Given the description of an element on the screen output the (x, y) to click on. 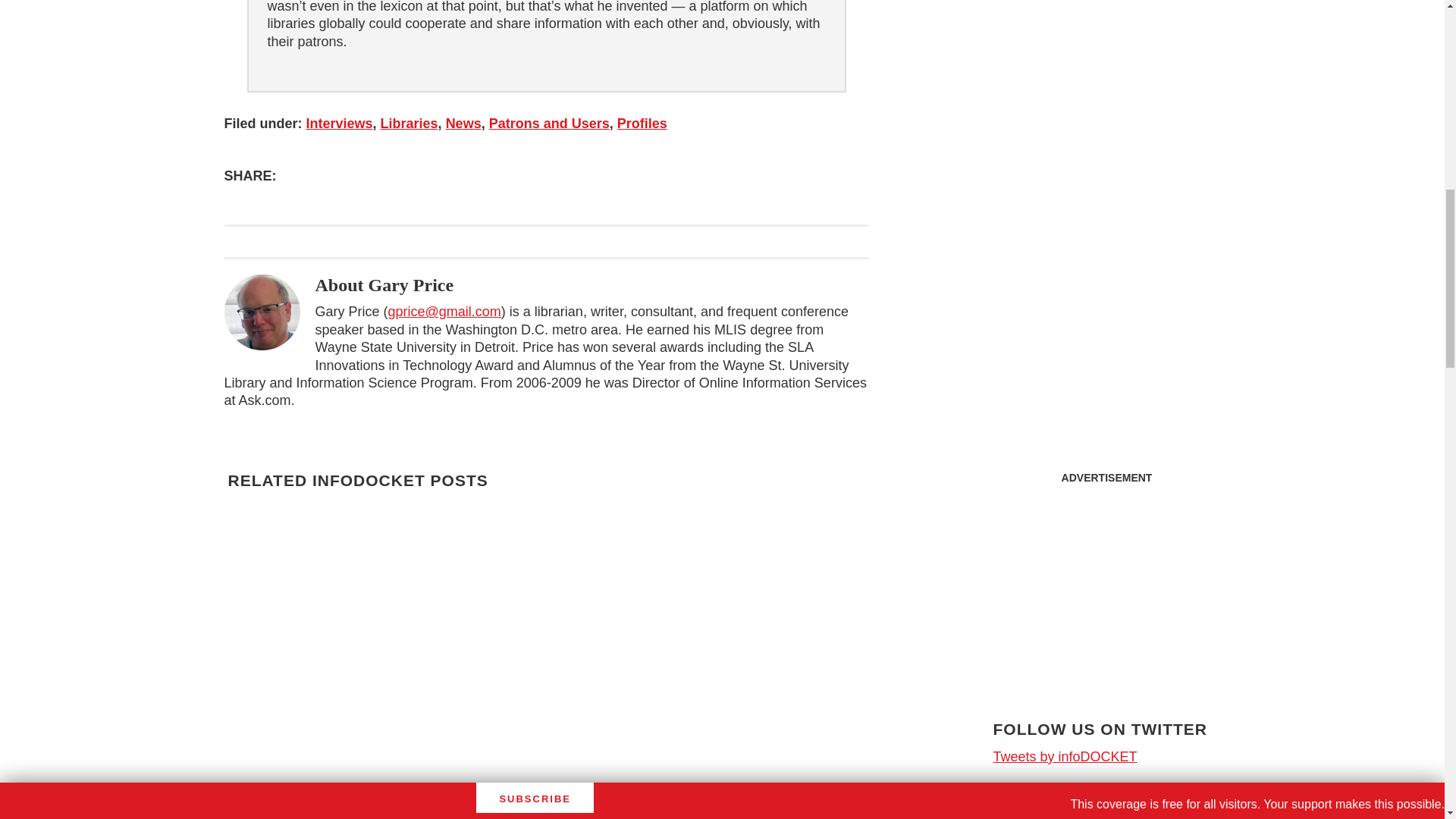
3rd party ad content (1106, 810)
3rd party ad content (1106, 76)
3rd party ad content (1106, 586)
